Given the description of an element on the screen output the (x, y) to click on. 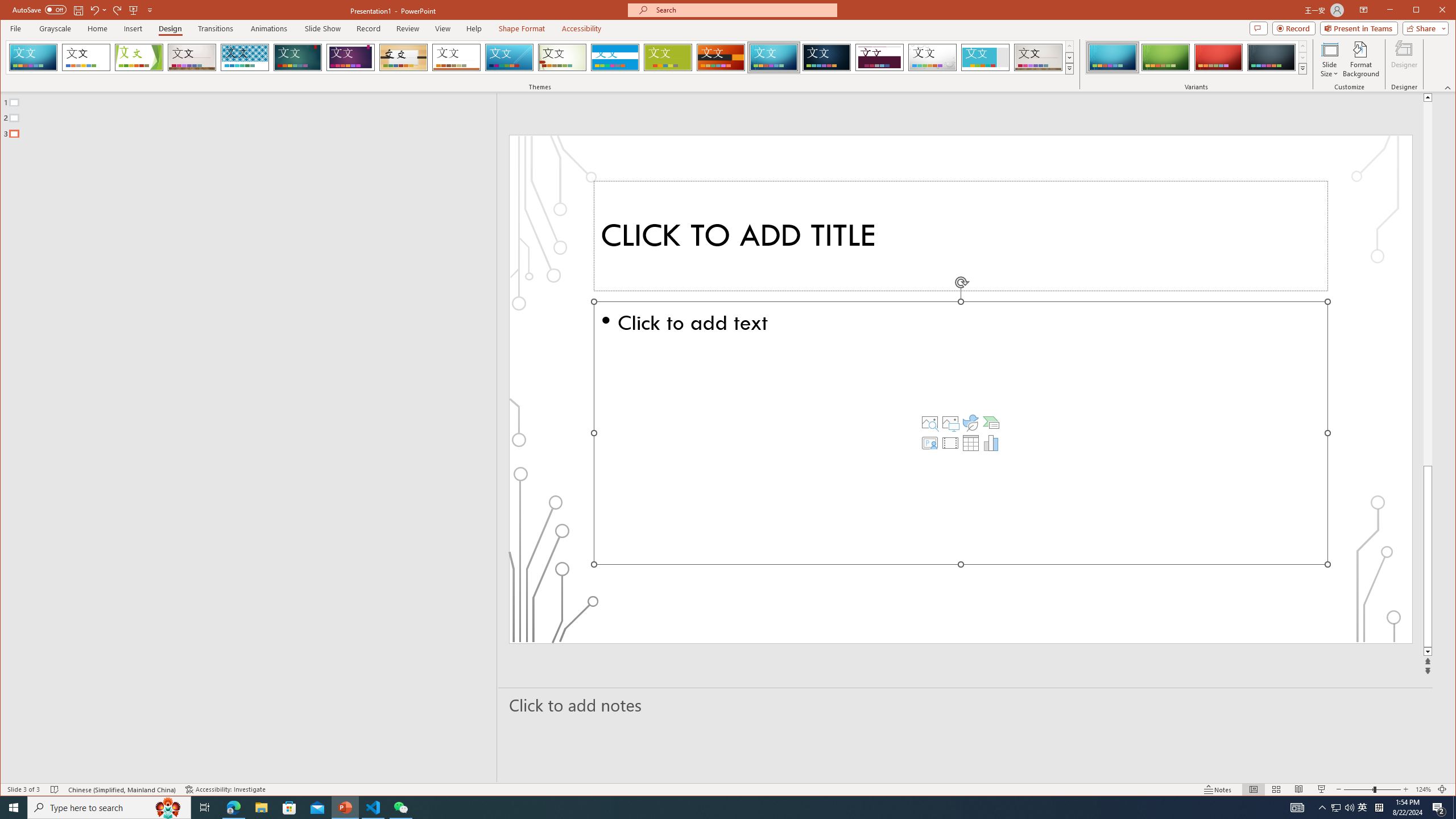
Pictures (949, 422)
Zoom 124% (1422, 789)
Wisp (561, 57)
Berlin (720, 57)
Retrospect (456, 57)
Outline (252, 115)
